Given the description of an element on the screen output the (x, y) to click on. 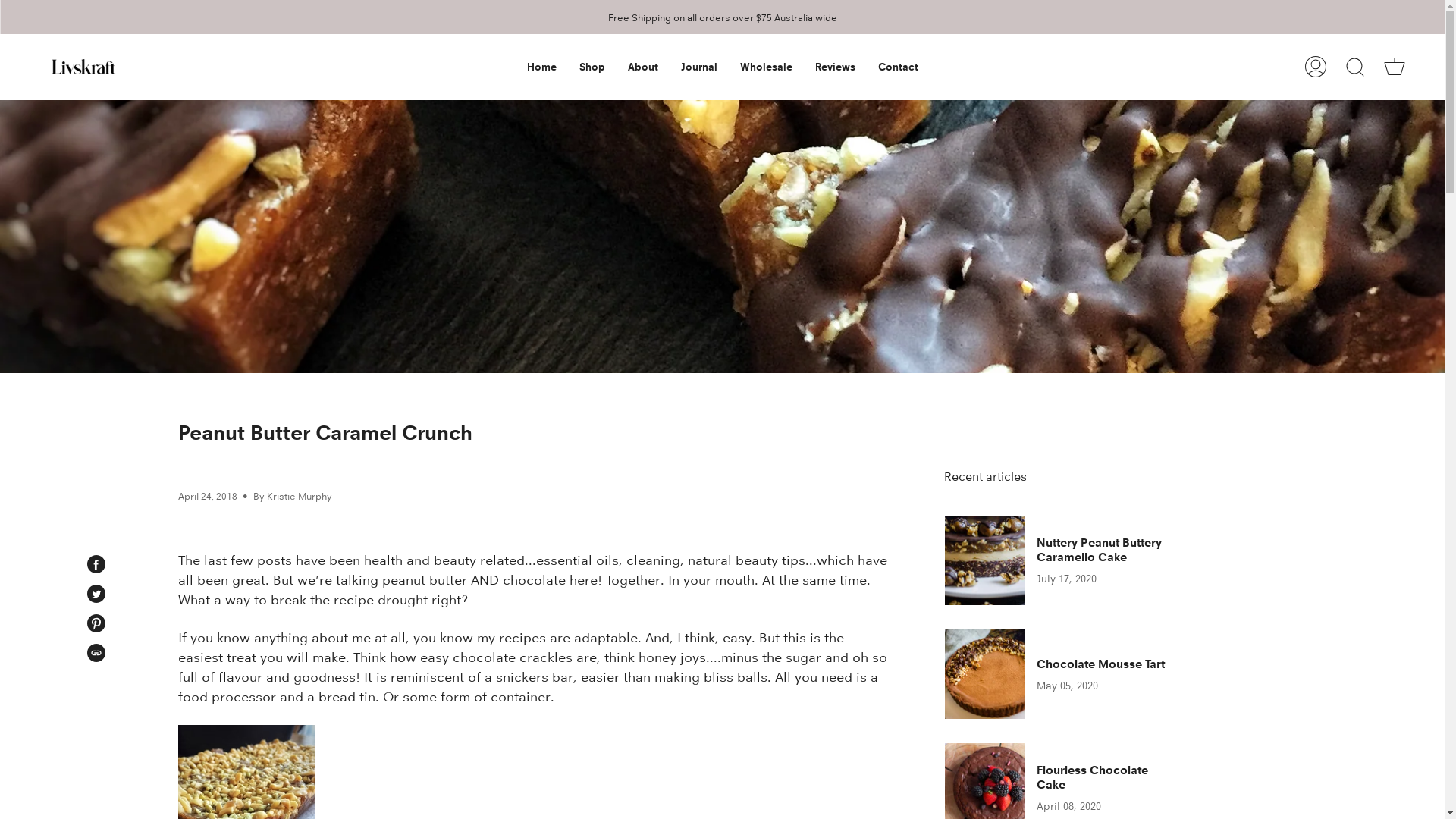
Chocolate Mousse Tart
May 05, 2020 Element type: text (1065, 673)
TWEET ON TWITTER Element type: text (95, 593)
SHARE ON FACEBOOK Element type: text (95, 564)
Wholesale Element type: text (765, 66)
COPIED! Element type: text (95, 652)
My Account Element type: text (1315, 66)
Cart Element type: text (1394, 66)
Home Element type: text (541, 66)
Nuttery Peanut Buttery Caramello Cake
July 17, 2020 Element type: text (1065, 559)
Contact Element type: text (897, 66)
PIN ON PINTEREST Element type: text (95, 623)
Search Element type: text (1354, 66)
Reviews Element type: text (834, 66)
Shop Element type: text (591, 66)
About Element type: text (641, 66)
Journal Element type: text (698, 66)
